Given the description of an element on the screen output the (x, y) to click on. 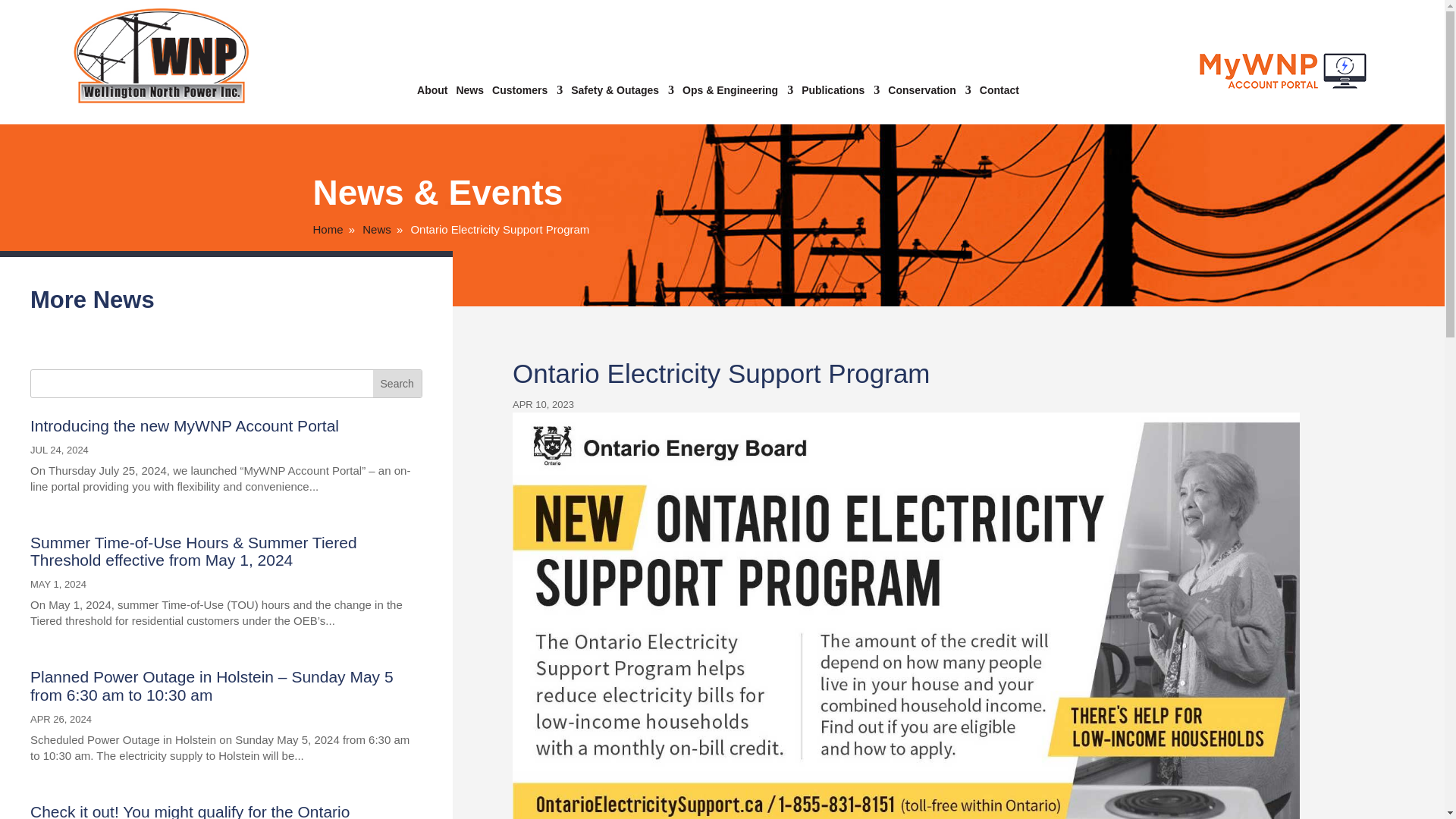
Search (397, 383)
wellington-north-power (161, 55)
Search (397, 383)
